Given the description of an element on the screen output the (x, y) to click on. 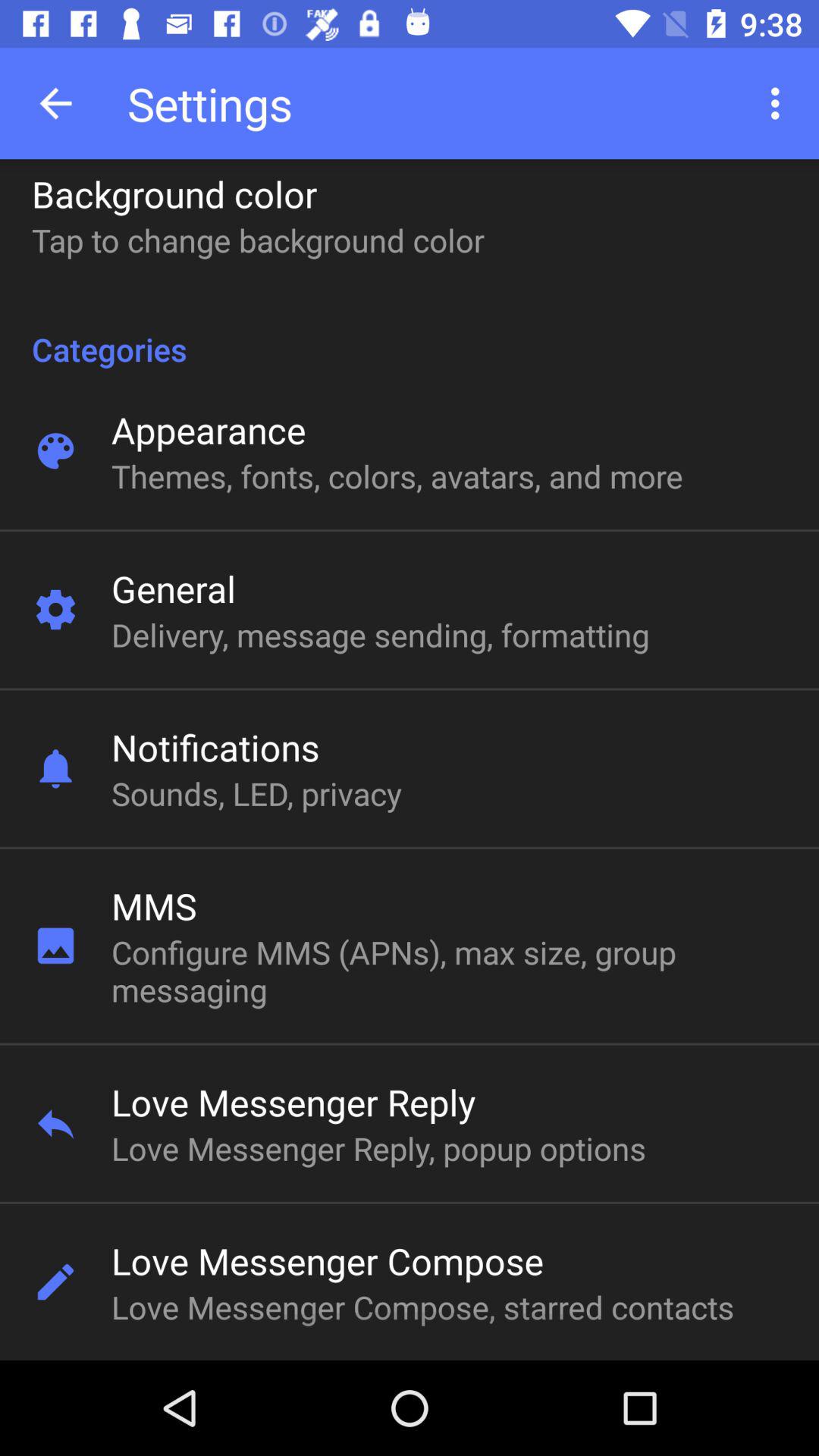
turn off the item at the top right corner (779, 103)
